Given the description of an element on the screen output the (x, y) to click on. 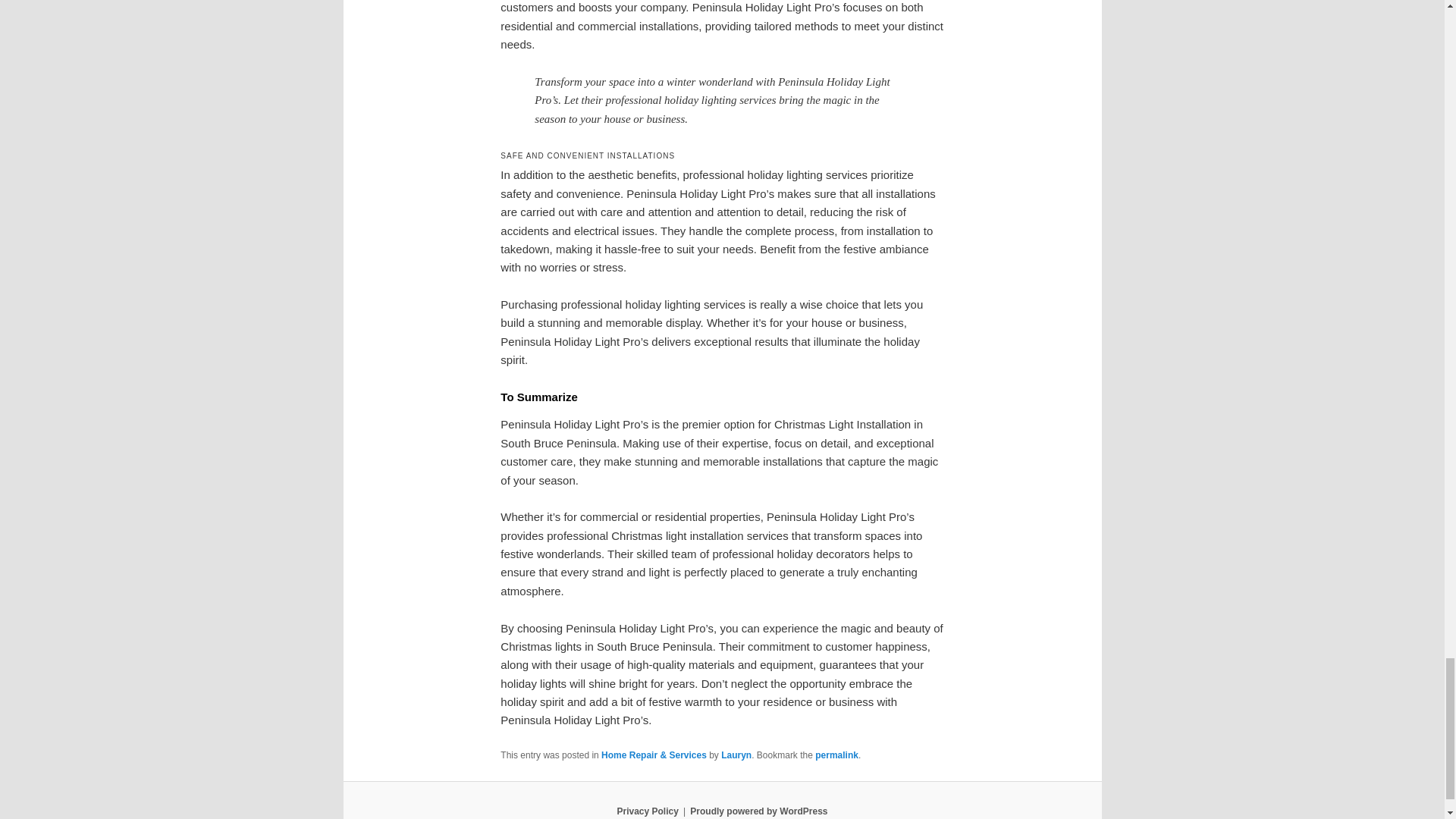
Lauryn (735, 755)
Semantic Personal Publishing Platform (758, 810)
Privacy Policy (646, 810)
permalink (837, 755)
Proudly powered by WordPress (758, 810)
